Given the description of an element on the screen output the (x, y) to click on. 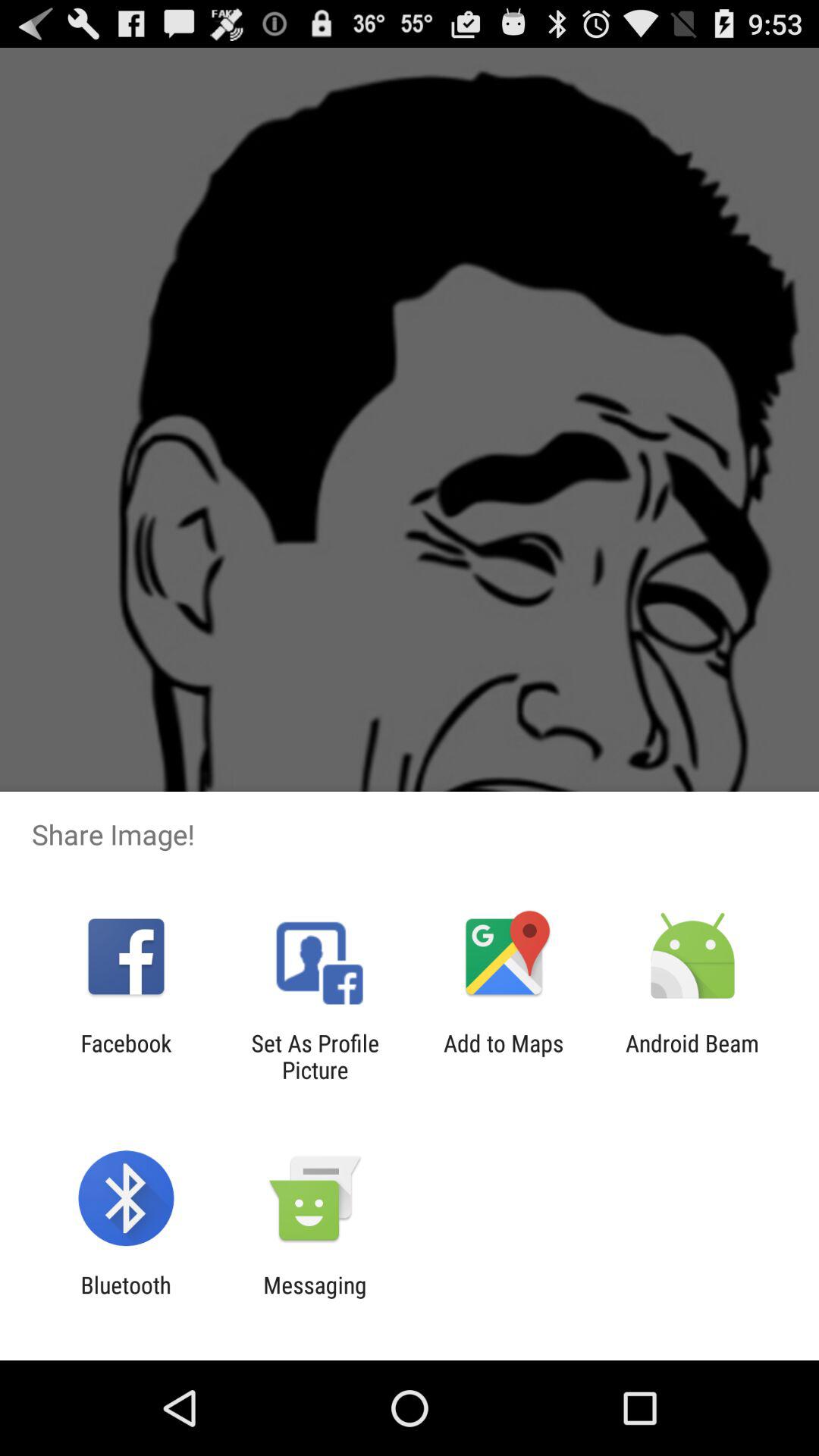
launch add to maps item (503, 1056)
